Given the description of an element on the screen output the (x, y) to click on. 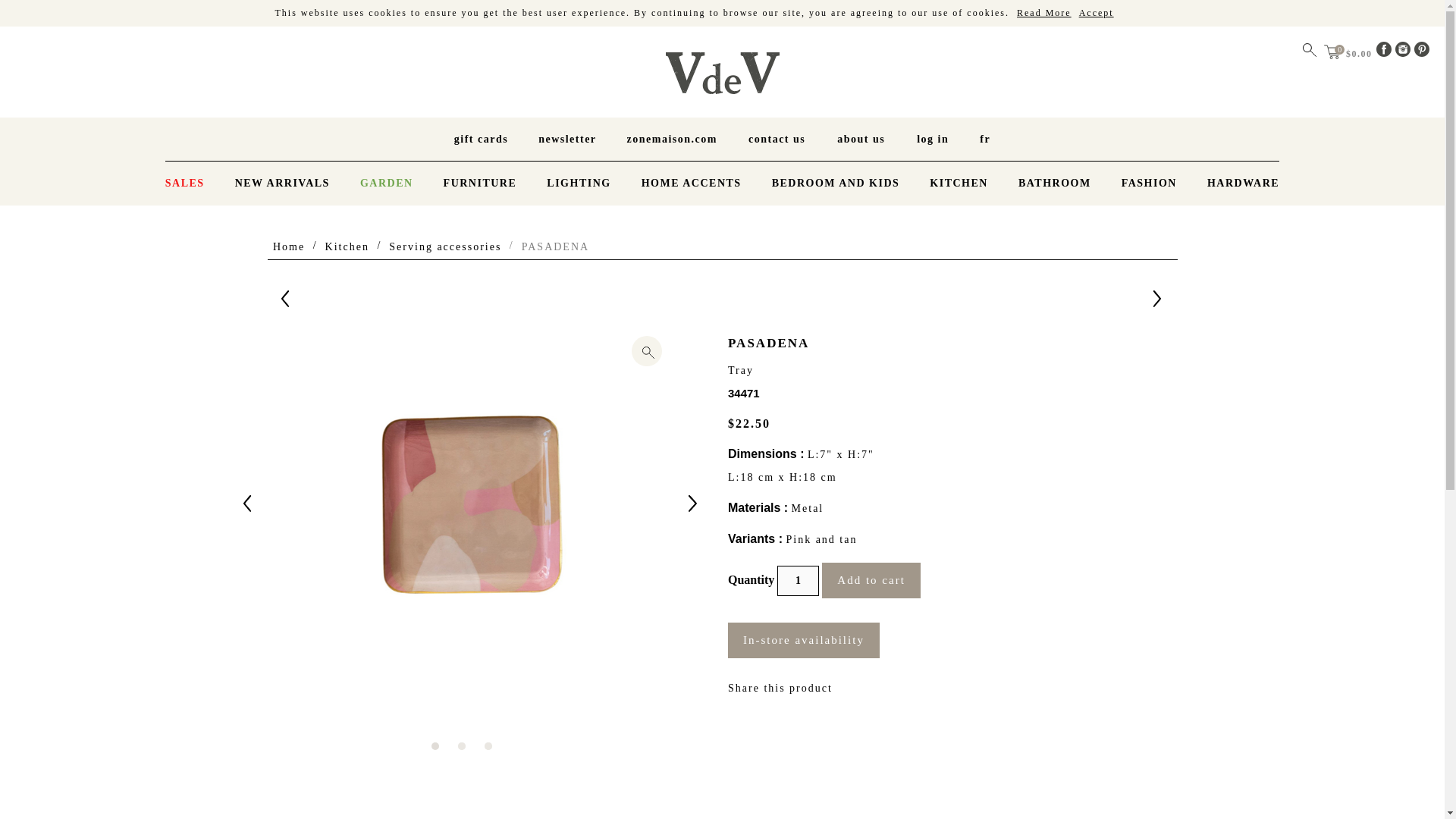
1 (797, 580)
Accept (1095, 12)
Read More (1043, 12)
